Given the description of an element on the screen output the (x, y) to click on. 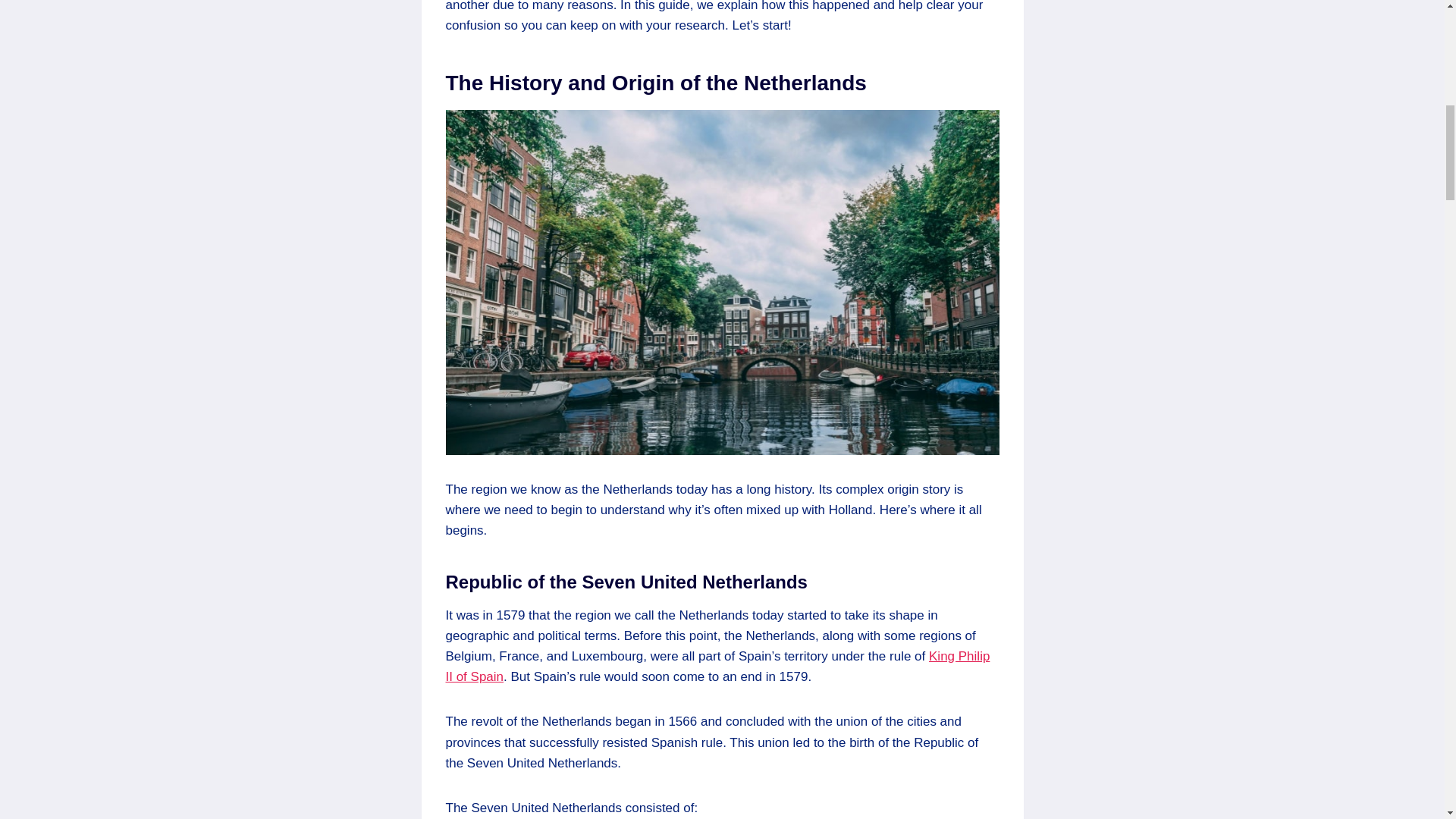
King Philip II of Spain (717, 666)
King Philip II of Spain (717, 666)
